Given the description of an element on the screen output the (x, y) to click on. 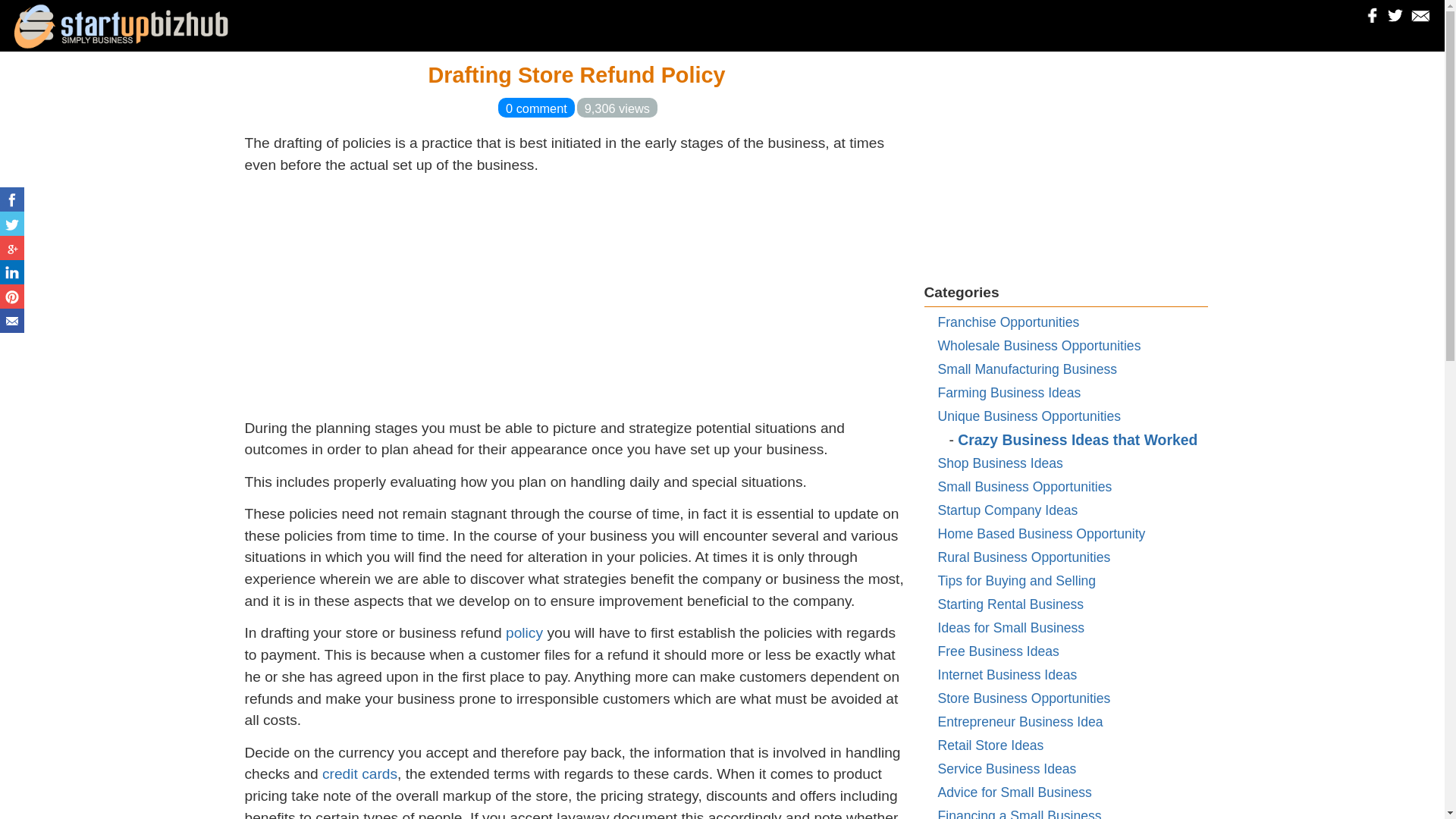
credit cards (359, 773)
Starting Rental Business (1010, 604)
Unique Business Opportunities (1029, 416)
Clothing Return Policy (524, 632)
0 comment (536, 108)
Farming Business Ideas (1008, 392)
Home Based Business Opportunity (1040, 533)
Rural Business Opportunities (1023, 557)
Franchise Opportunities (1007, 322)
Retail Store Ideas (990, 744)
Store Business Opportunities (1023, 698)
Shop Business Ideas (999, 462)
Entrepreneur Business Idea (1019, 721)
Tips for Buying and Selling (1016, 580)
Advice for Small Business (1013, 792)
